Given the description of an element on the screen output the (x, y) to click on. 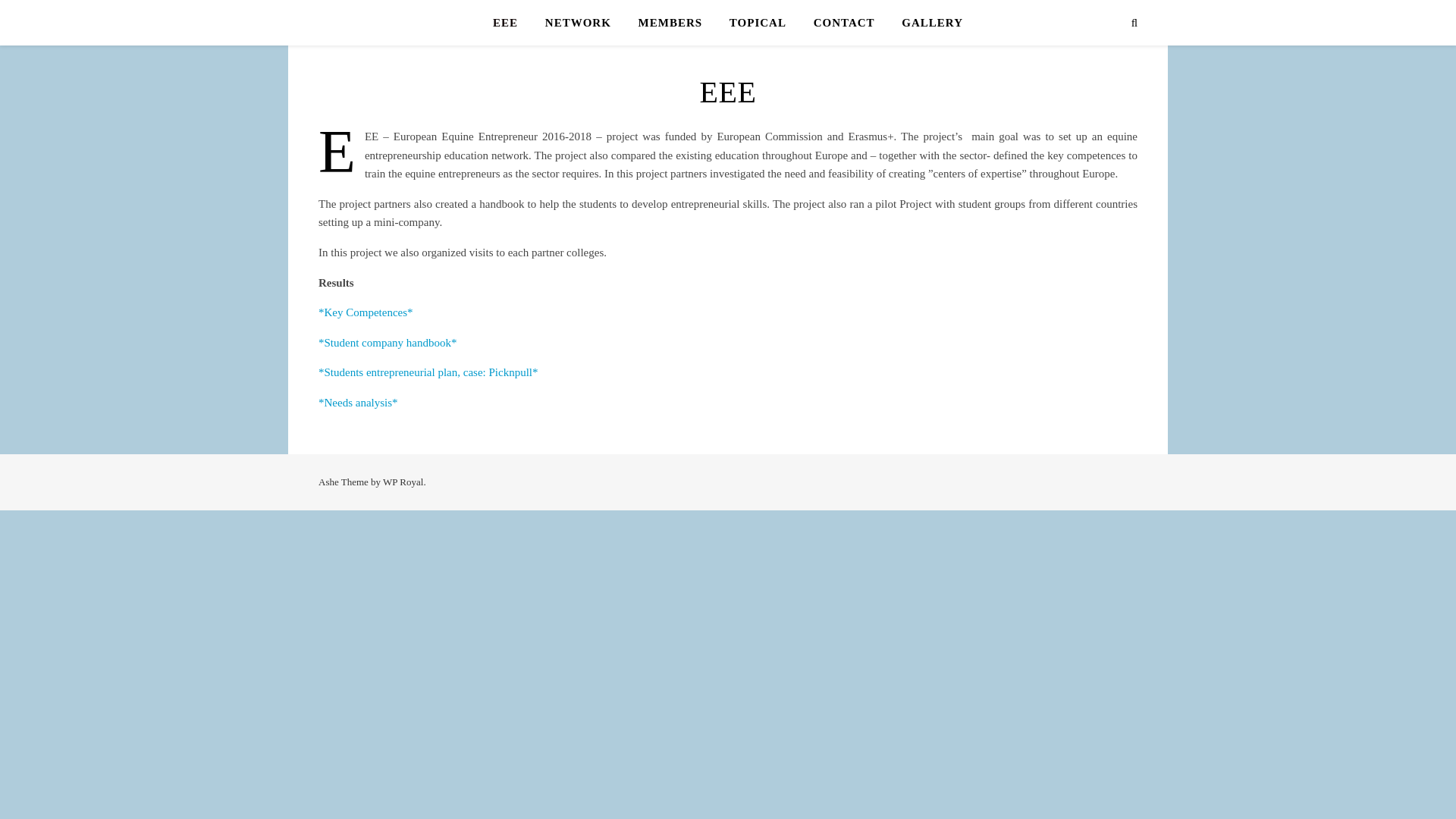
MEMBERS (670, 22)
CONTACT (844, 22)
GALLERY (925, 22)
WP Royal (402, 481)
TOPICAL (757, 22)
NETWORK (577, 22)
